Given the description of an element on the screen output the (x, y) to click on. 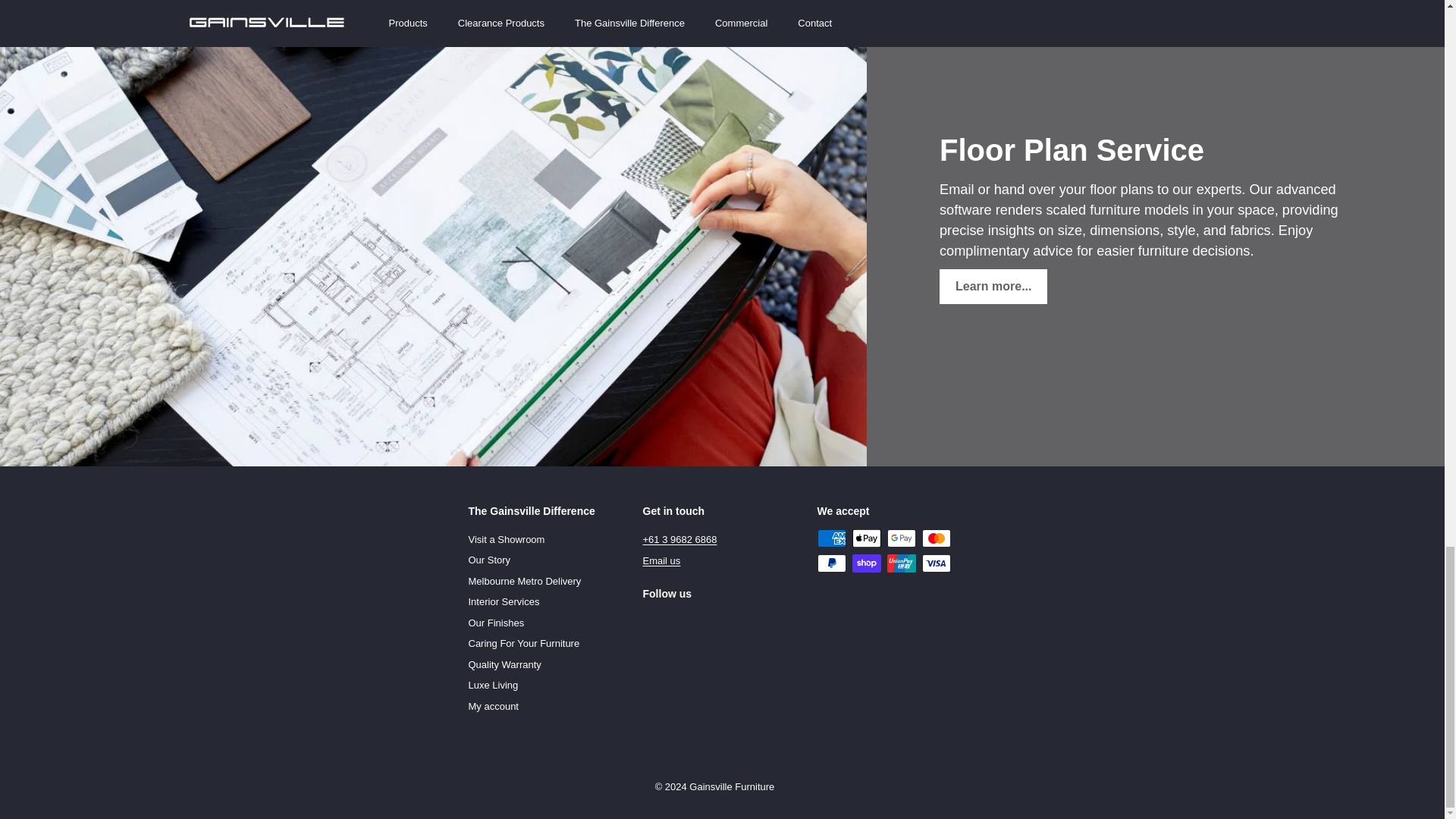
American Express (830, 538)
Mastercard (935, 538)
Apple Pay (865, 538)
Union Pay (900, 563)
Google Pay (900, 538)
PayPal (830, 563)
Shop Pay (865, 563)
Visa (935, 563)
